Given the description of an element on the screen output the (x, y) to click on. 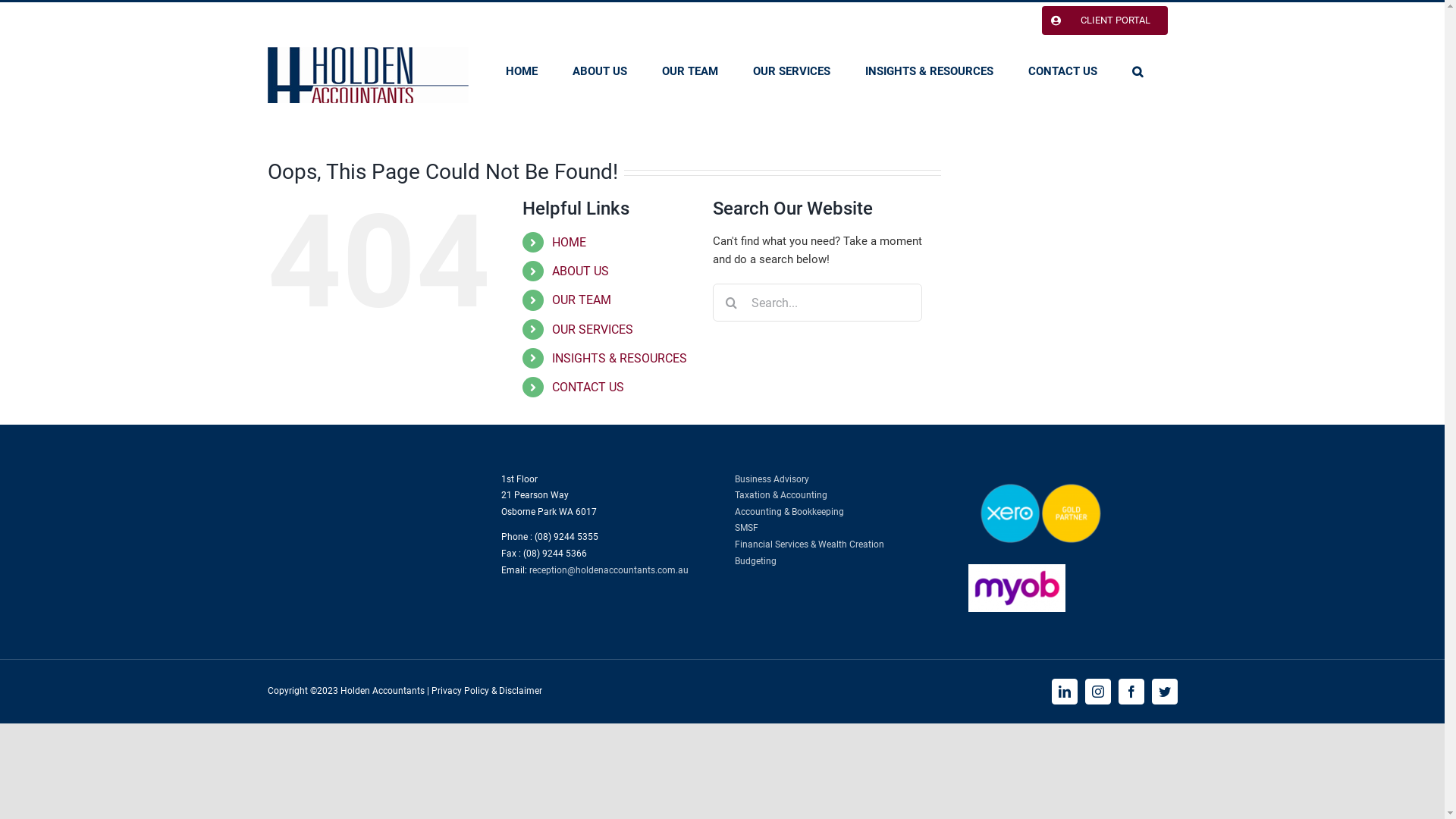
OUR TEAM Element type: text (581, 299)
CLIENT PORTAL Element type: text (1103, 20)
Facebook Element type: text (1130, 691)
OUR SERVICES Element type: text (790, 71)
Financial Services & Wealth Creation Element type: text (808, 544)
LinkedIn Element type: text (1063, 691)
CONTACT US Element type: text (1062, 71)
Accounting & Bookkeeping Element type: text (788, 511)
HOME Element type: text (569, 242)
SMSF Element type: text (745, 527)
Budgeting Element type: text (754, 560)
Search Element type: hover (1136, 71)
reception@holdenaccountants.com.au Element type: text (608, 569)
Business Advisory Element type: text (771, 478)
OUR SERVICES Element type: text (592, 329)
Twitter Element type: text (1163, 691)
INSIGHTS & RESOURCES Element type: text (928, 71)
ABOUT US Element type: text (598, 71)
CONTACT US Element type: text (588, 386)
Instagram Element type: text (1097, 691)
HOME Element type: text (520, 71)
Taxation & Accounting Element type: text (780, 494)
INSIGHTS & RESOURCES Element type: text (619, 358)
ABOUT US Element type: text (580, 270)
OUR TEAM Element type: text (689, 71)
